Given the description of an element on the screen output the (x, y) to click on. 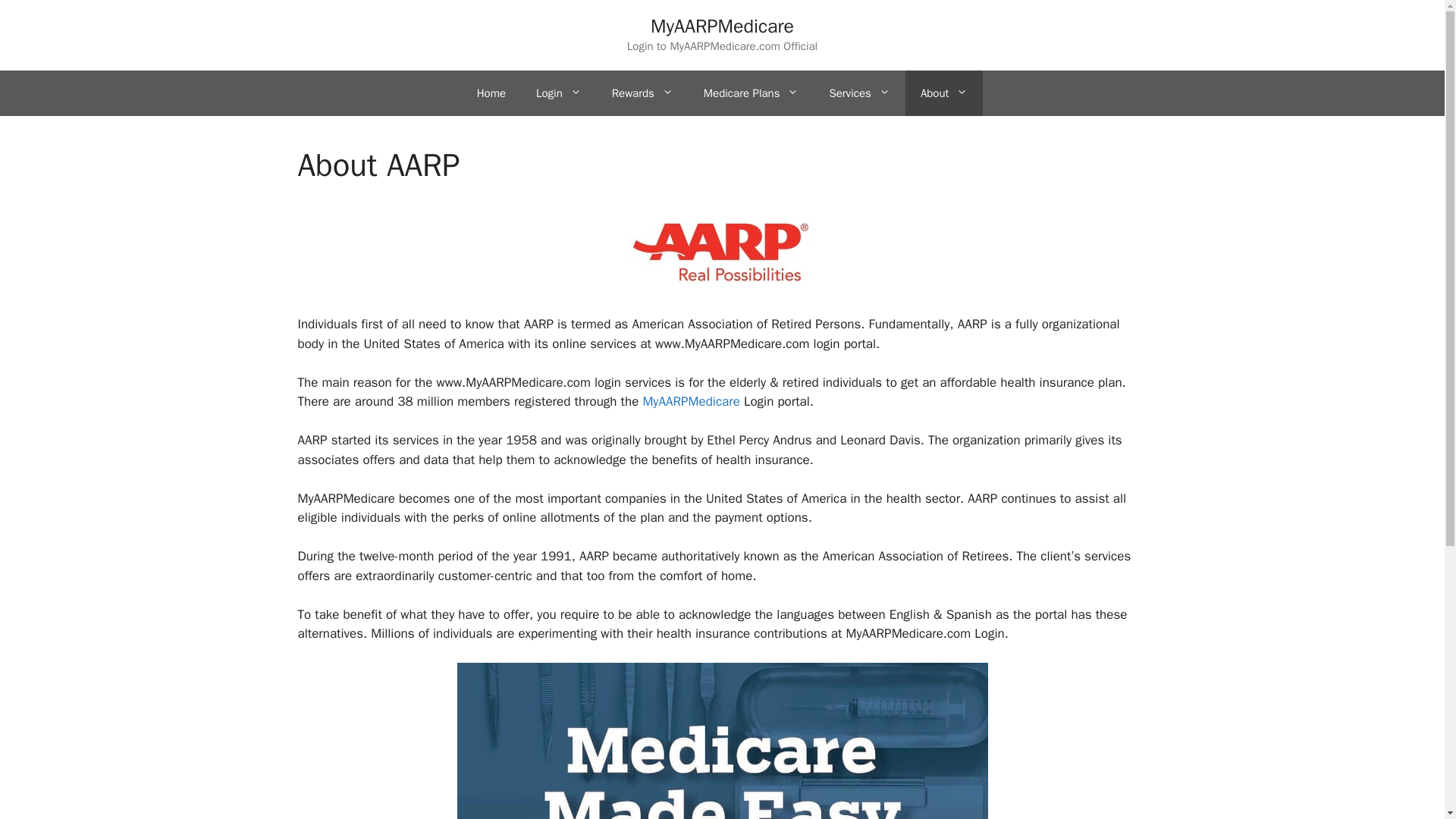
MyAARPMedicare (690, 401)
Services (858, 92)
Medicare Plans (750, 92)
About (943, 92)
Rewards (642, 92)
Login (558, 92)
Home (491, 92)
MyAARPMedicare (721, 25)
